Given the description of an element on the screen output the (x, y) to click on. 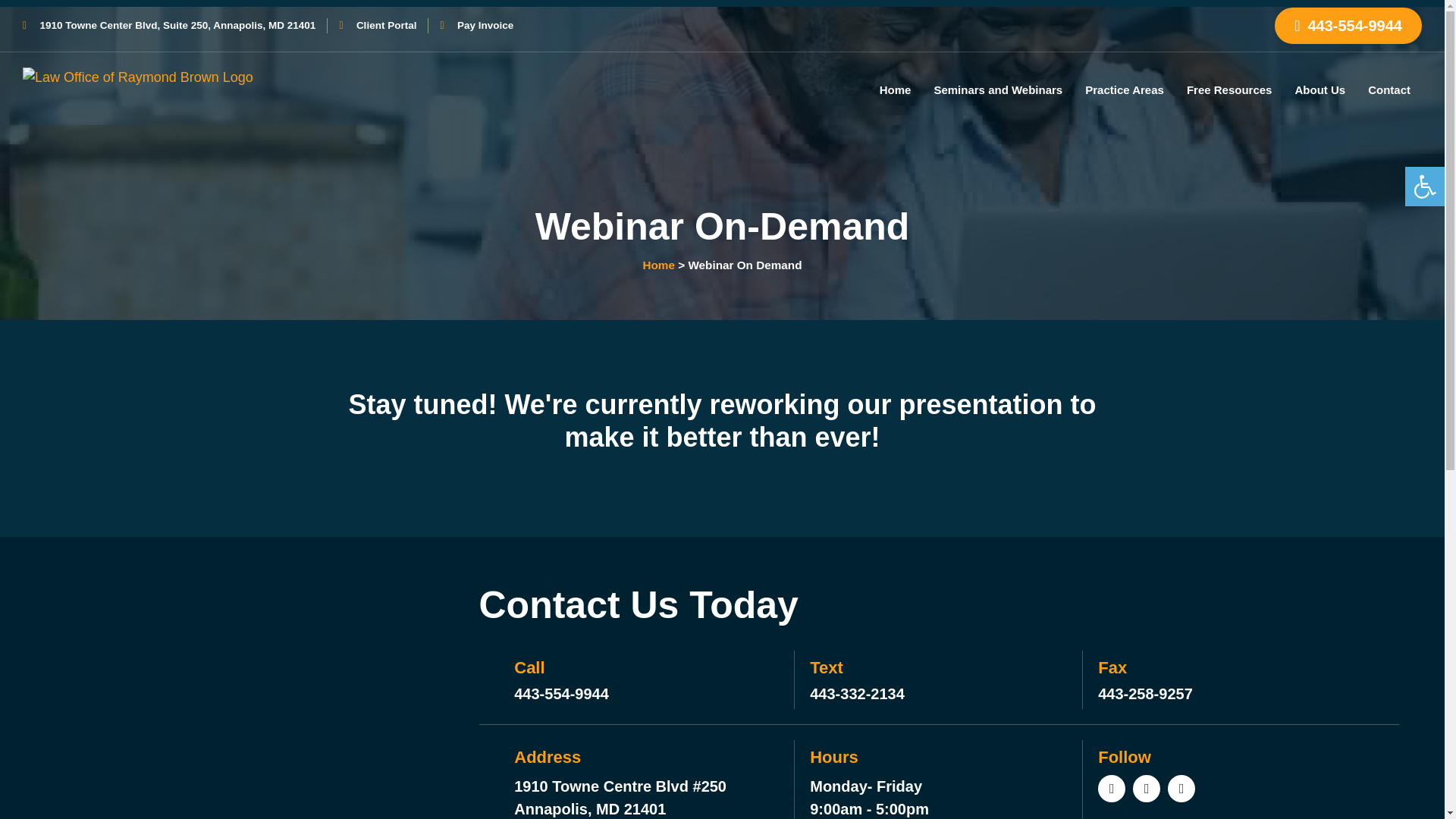
443-554-9944 (1348, 25)
Pay Invoice (476, 25)
Accessibility Tools (1424, 186)
Client Portal (377, 25)
Free Resources (1229, 89)
Home (895, 89)
Seminars and Webinars (997, 89)
Practice Areas (1124, 89)
1910 Towne Center Blvd, Suite 250, Annapolis, MD 21401 (169, 25)
